Given the description of an element on the screen output the (x, y) to click on. 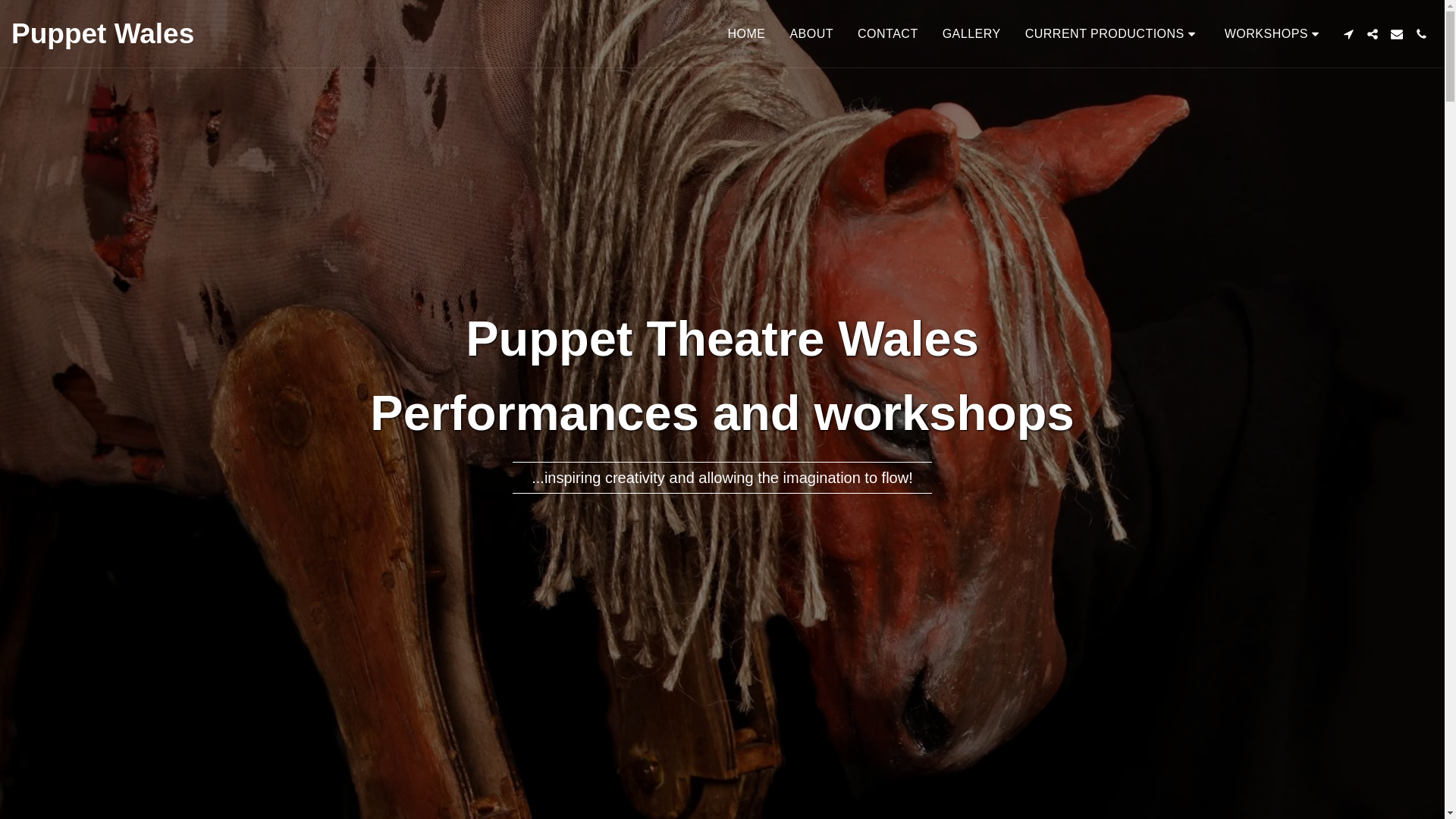
GALLERY (971, 32)
HOME (746, 32)
CONTACT (887, 32)
Puppet Wales (102, 33)
WORKSHOPS   (1273, 32)
CURRENT PRODUCTIONS   (1112, 32)
ABOUT (810, 32)
